Given the description of an element on the screen output the (x, y) to click on. 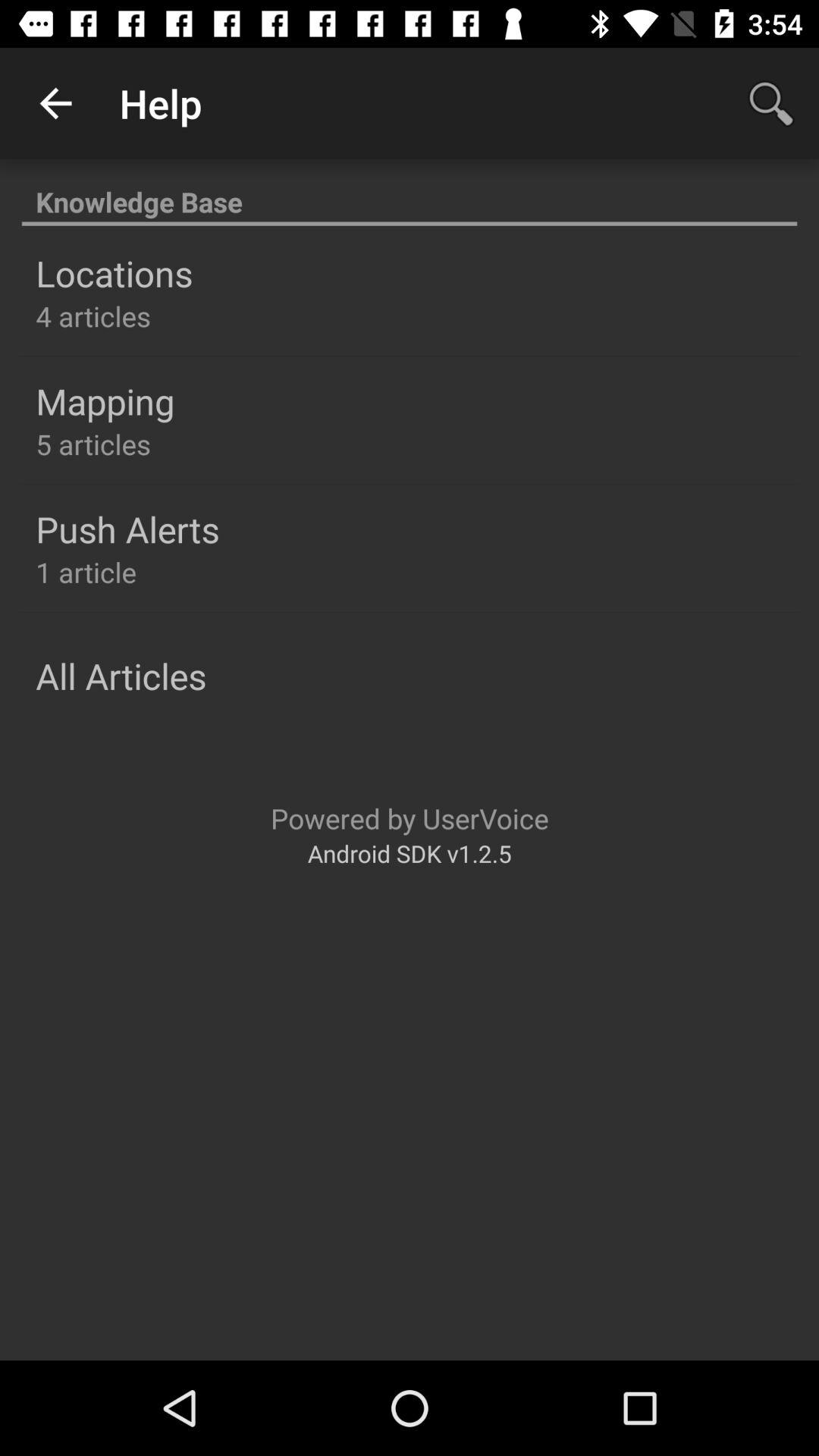
choose the icon above the knowledge base icon (55, 103)
